Given the description of an element on the screen output the (x, y) to click on. 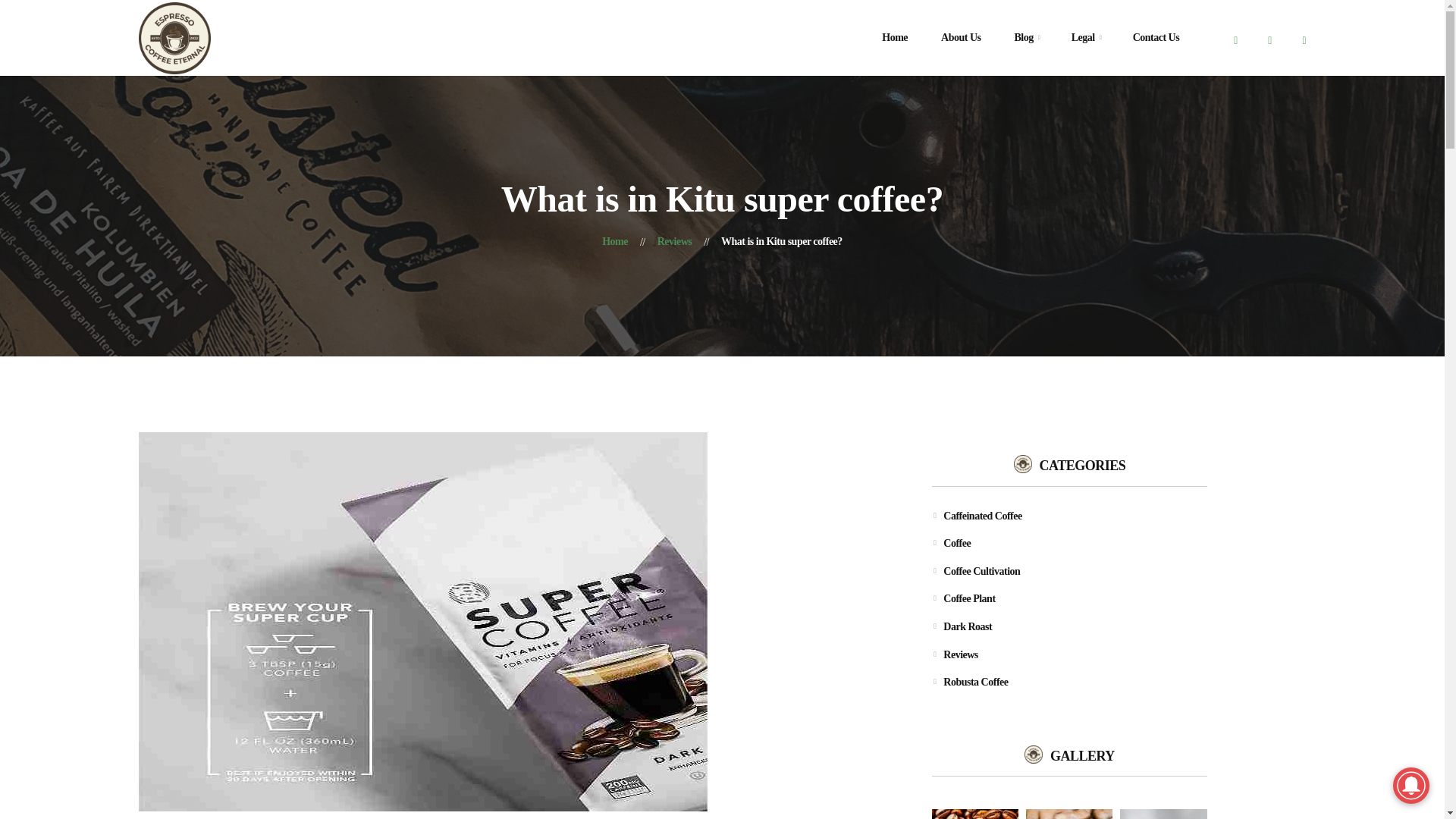
Go to Home. (614, 241)
Home (894, 37)
Reviews (675, 241)
Blog (1023, 37)
Home (614, 241)
Legal (1083, 37)
Go to the Reviews Category archives. (675, 241)
Contact Us (1156, 37)
About Us (960, 37)
